Given the description of an element on the screen output the (x, y) to click on. 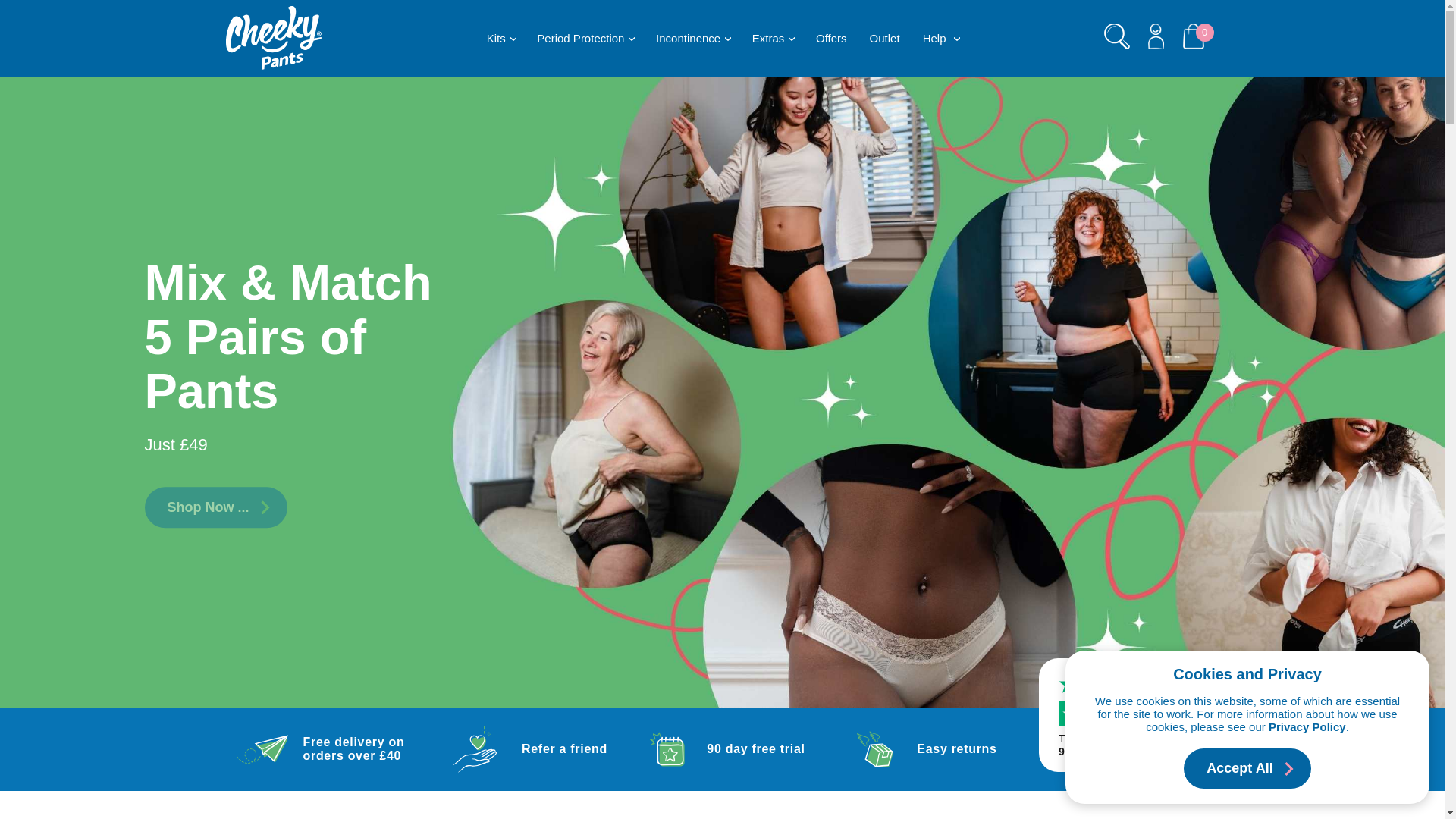
Shop Now ... (215, 507)
Easy returns (921, 748)
90 day free trial (722, 748)
Refer a friend (524, 748)
Customer reviews powered by Trustpilot (1132, 714)
